Given the description of an element on the screen output the (x, y) to click on. 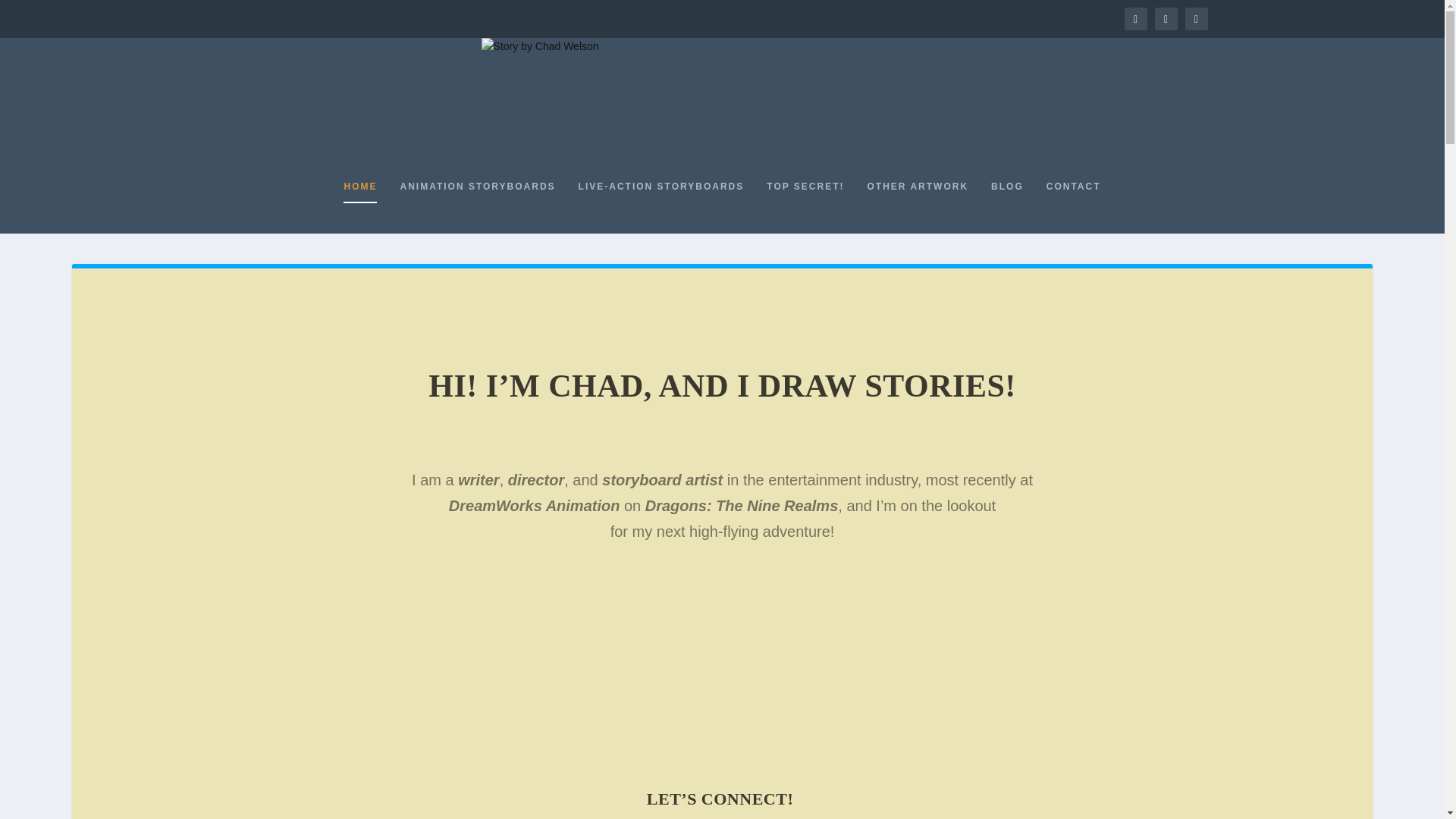
LIVE-ACTION STORYBOARDS (661, 206)
CONTACT (1073, 206)
TOP SECRET! (805, 206)
ANIMATION STORYBOARDS (476, 206)
OTHER ARTWORK (918, 206)
